Given the description of an element on the screen output the (x, y) to click on. 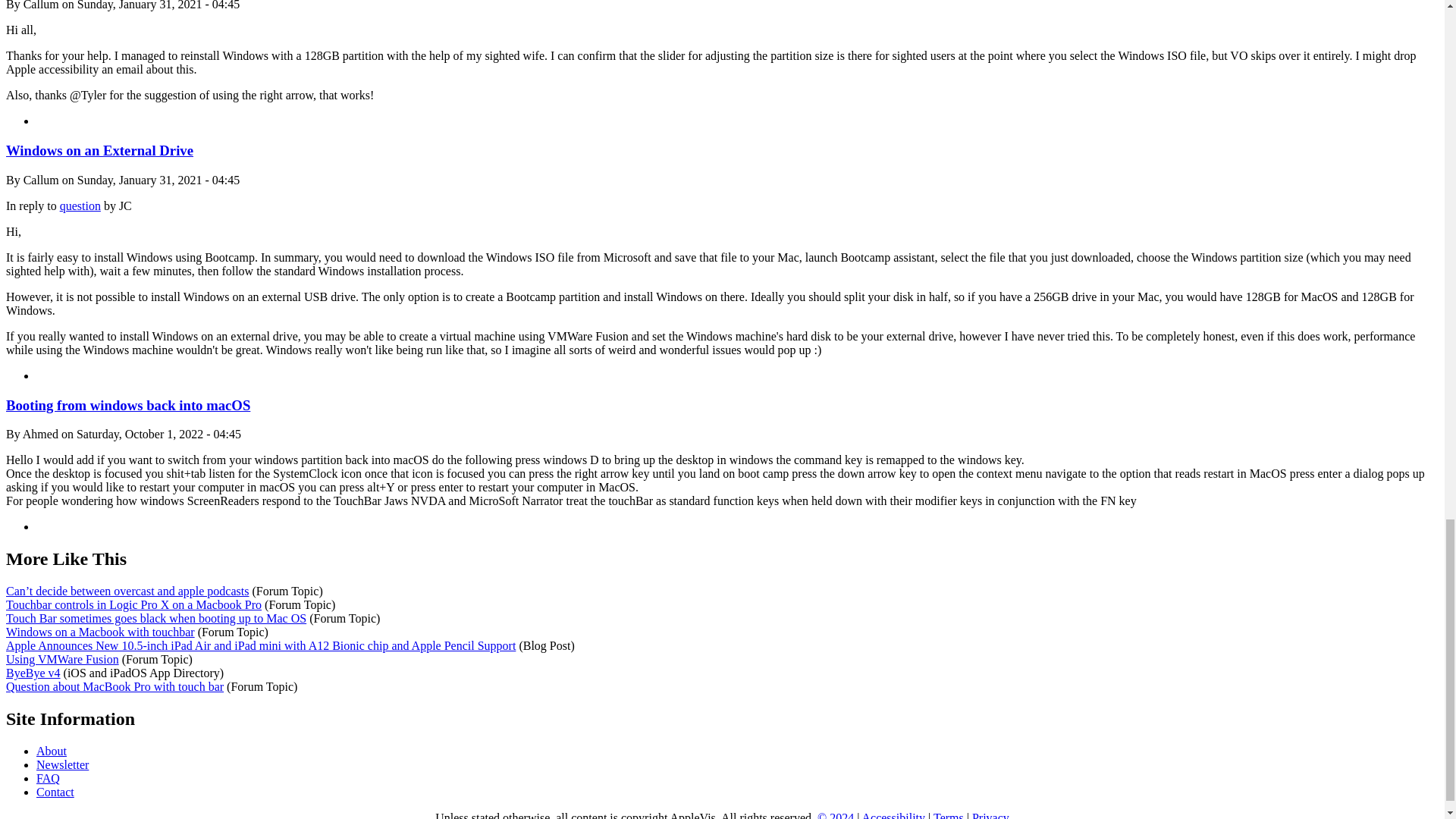
ByeBye v4 (33, 672)
About (51, 750)
Booting from windows back into macOS (127, 405)
Question about MacBook Pro with touch bar (114, 686)
Newsletters (62, 764)
About (51, 750)
question (79, 205)
Newsletter (62, 764)
Answers to some frequently asked questions about AppleVis (47, 778)
Windows on a Macbook with touchbar (100, 631)
